Given the description of an element on the screen output the (x, y) to click on. 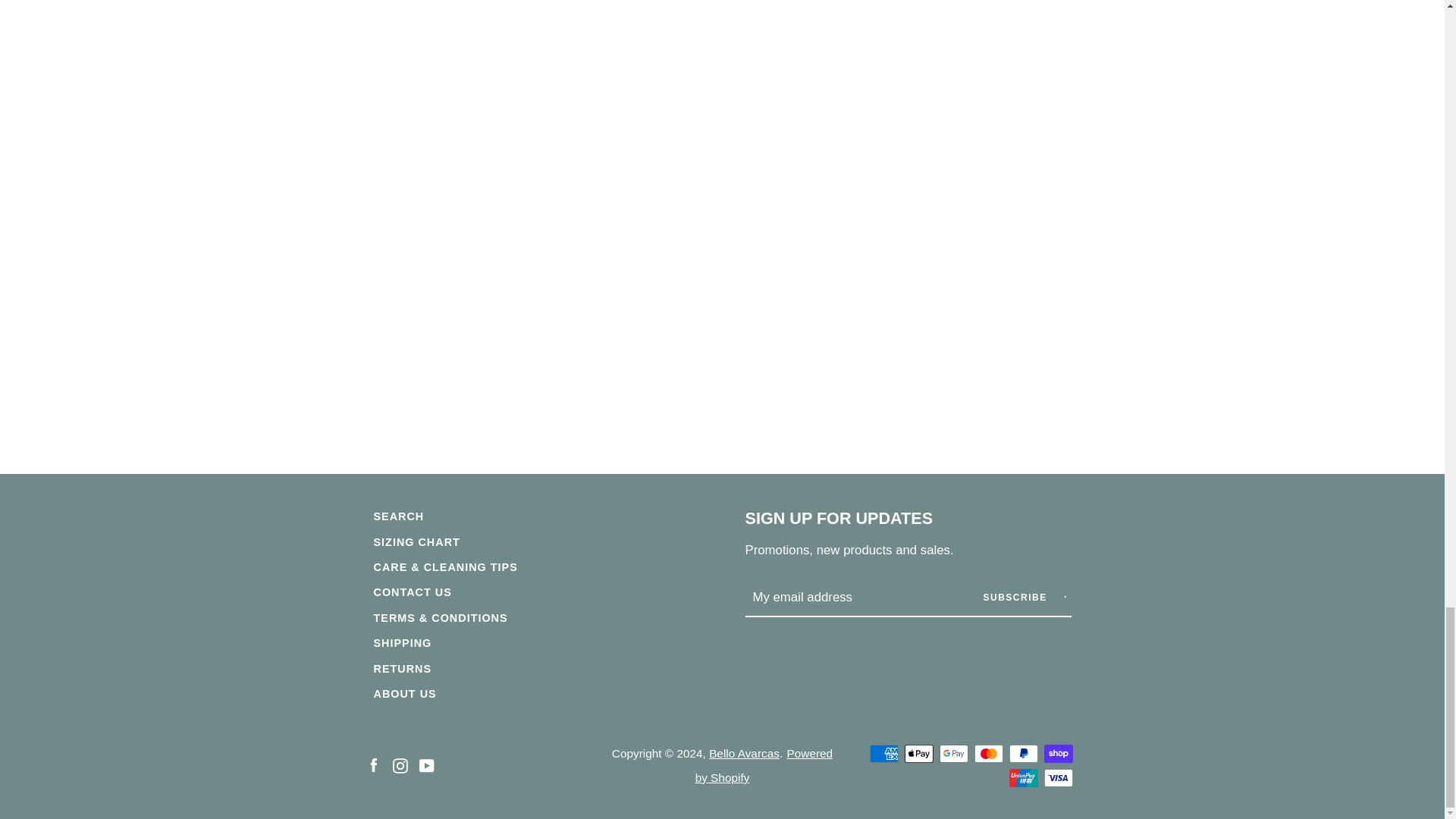
Union Pay (1022, 778)
Bello Avarcas on Instagram (400, 764)
Bello Avarcas on Facebook (372, 764)
Bello Avarcas on YouTube (426, 764)
PayPal (1022, 753)
Visa (1057, 778)
Shop Pay (1057, 753)
Apple Pay (918, 753)
American Express (883, 753)
Google Pay (953, 753)
